Given the description of an element on the screen output the (x, y) to click on. 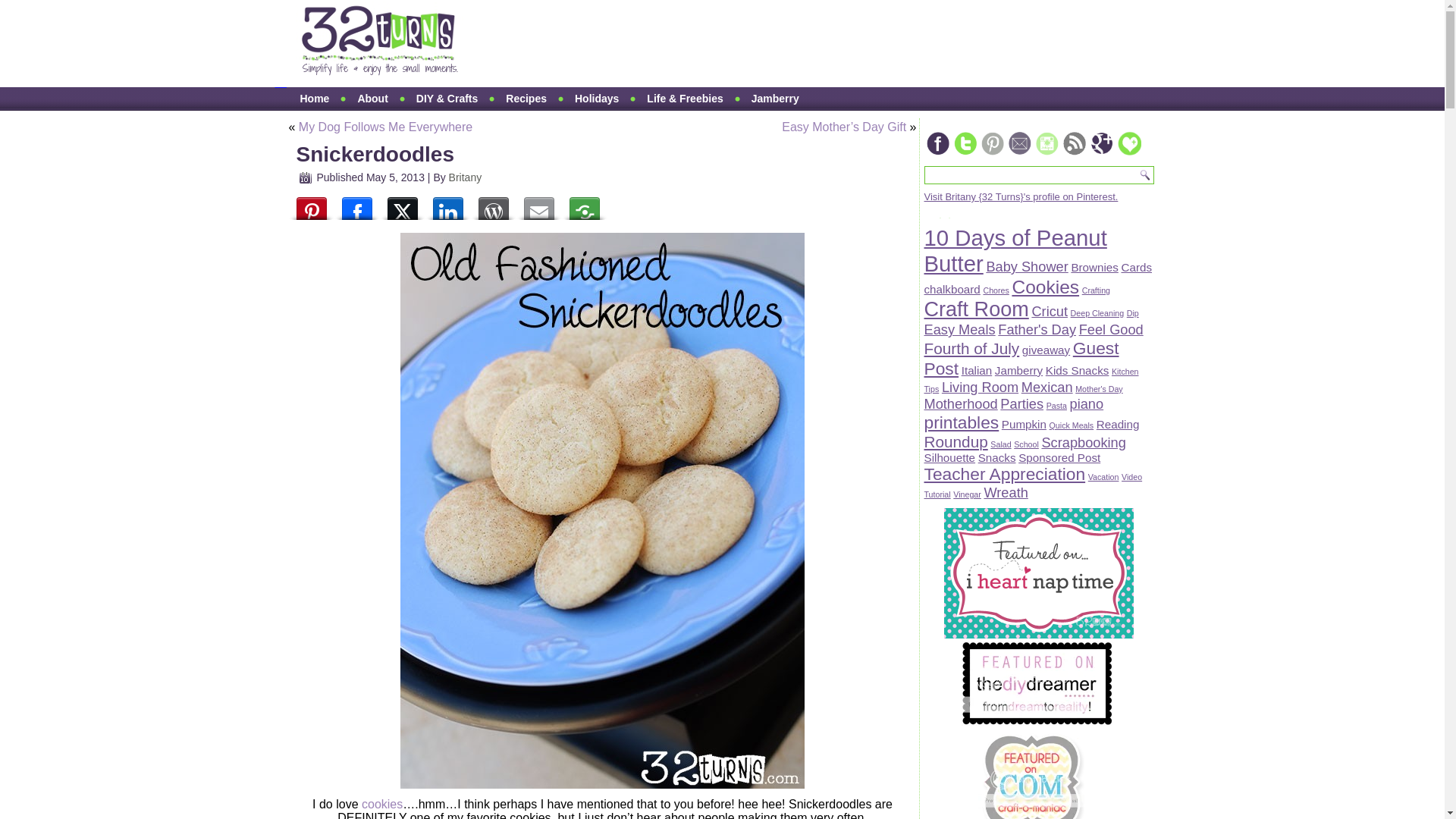
Craft Room Element type: text (975, 309)
DIY & Crafts Element type: text (446, 98)
LinkedIn Element type: hover (447, 204)
Motherhood Element type: text (960, 403)
More Options Element type: hover (583, 204)
X (Twitter) Element type: hover (401, 204)
printables Element type: text (960, 422)
Wreath Element type: text (1005, 492)
Bloglovin' Element type: hover (1128, 143)
School Element type: text (1025, 443)
          Element type: text (379, 44)
giveaway Element type: text (1046, 349)
Life & Freebies Element type: text (684, 98)
Bloglovin' Element type: hover (1128, 153)
About Element type: text (371, 98)
Salad Element type: text (1000, 443)
Feel Good Element type: text (1111, 329)
Pumpkin Element type: text (1023, 423)
piano Element type: text (1087, 403)
Easy Meals Element type: text (958, 329)
Sponsored Post Element type: text (1059, 457)
Video Tutorial Element type: text (1032, 485)
Pasta Element type: text (1056, 405)
Guest Post Element type: text (1020, 358)
Facebook Element type: hover (356, 204)
Crafting Element type: text (1096, 289)
Dip Element type: text (1132, 312)
Chores Element type: text (995, 289)
chalkboard Element type: text (951, 288)
WordPress Blog Element type: hover (492, 204)
Kids Snacks Element type: text (1077, 370)
Advertisement Element type: hover (763, 43)
Britany Element type: text (465, 177)
10 Days of Peanut Butter Element type: text (1014, 250)
Mexican Element type: text (1047, 387)
Recipes Element type: text (526, 98)
cookies Element type: text (381, 803)
Kitchen Tips Element type: text (1030, 380)
Jamberry Element type: text (1018, 370)
Vacation Element type: text (1103, 476)
Email This Element type: hover (538, 204)
My Dog Follows Me Everywhere Element type: text (385, 126)
Silhouette Element type: text (949, 457)
Deep Cleaning Element type: text (1097, 312)
Brownies Element type: text (1093, 266)
Quick Meals Element type: text (1071, 424)
Jamberry Element type: text (775, 98)
Cricut Element type: text (1049, 311)
Pinterest Element type: hover (310, 204)
Living Room Element type: text (979, 387)
Mother's Day Element type: text (1098, 388)
Roundup Element type: text (955, 441)
Reading Element type: text (1117, 423)
Snacks Element type: text (997, 457)
Father's Day Element type: text (1036, 329)
Baby Shower Element type: text (1026, 266)
Cookies Element type: text (1045, 286)
Parties Element type: text (1021, 403)
Fourth of July Element type: text (971, 348)
Vinegar Element type: text (967, 493)
Cards Element type: text (1135, 266)
Scrapbooking Element type: text (1083, 442)
The DIY Dreamer Element type: hover (1037, 722)
Home Element type: text (314, 98)
Teacher Appreciation Element type: text (1004, 473)
Holidays Element type: text (596, 98)
Italian Element type: text (976, 370)
